Given the description of an element on the screen output the (x, y) to click on. 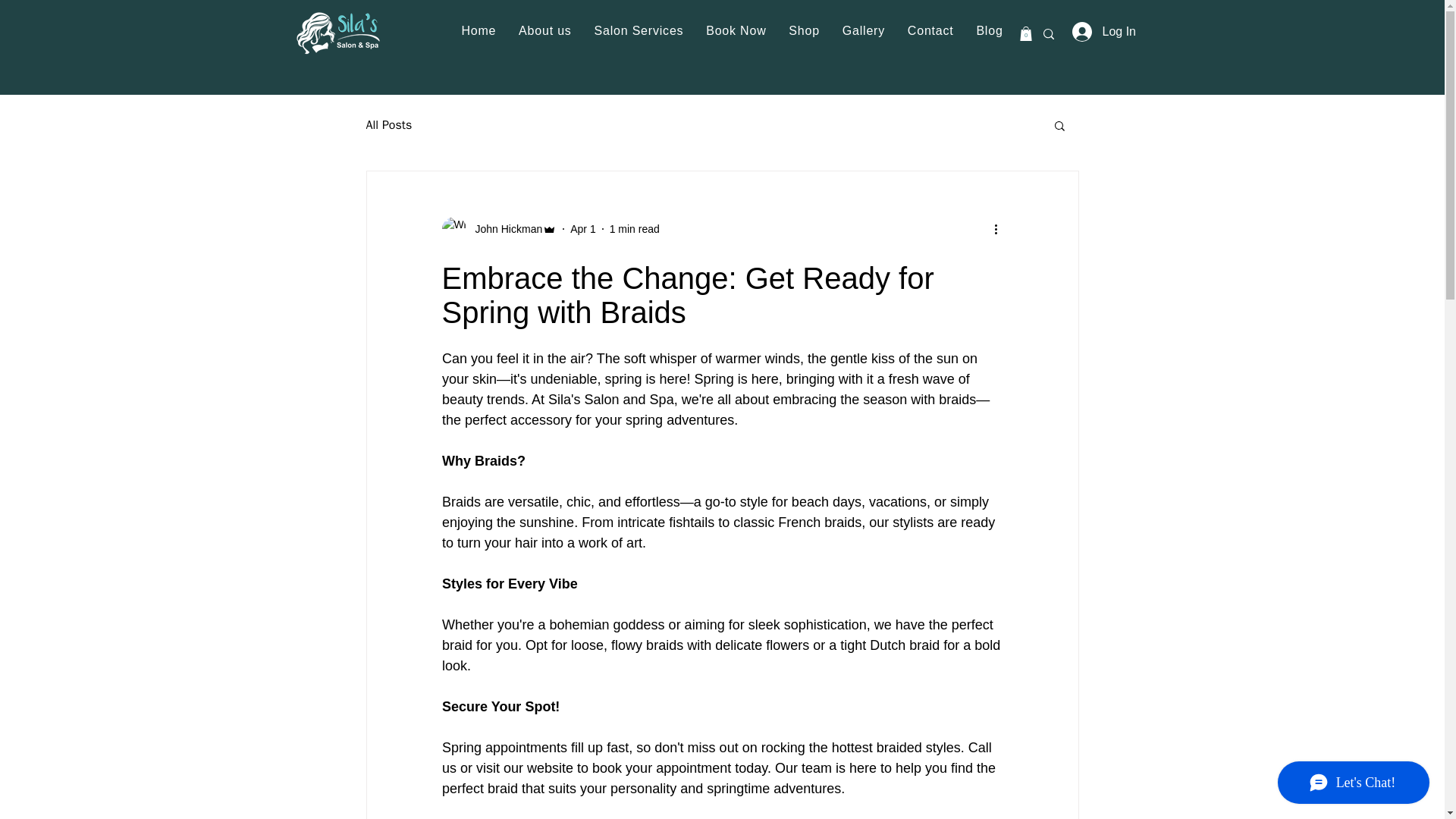
Blog (989, 30)
Shop (803, 30)
John Hickman (498, 228)
1 min read (634, 228)
John Hickman (503, 229)
All Posts (388, 124)
Contact (930, 30)
Book Now (735, 30)
Log In (1101, 31)
Apr 1 (582, 228)
Home (477, 30)
Salon Services (639, 30)
Gallery (863, 30)
About us (545, 30)
